Given the description of an element on the screen output the (x, y) to click on. 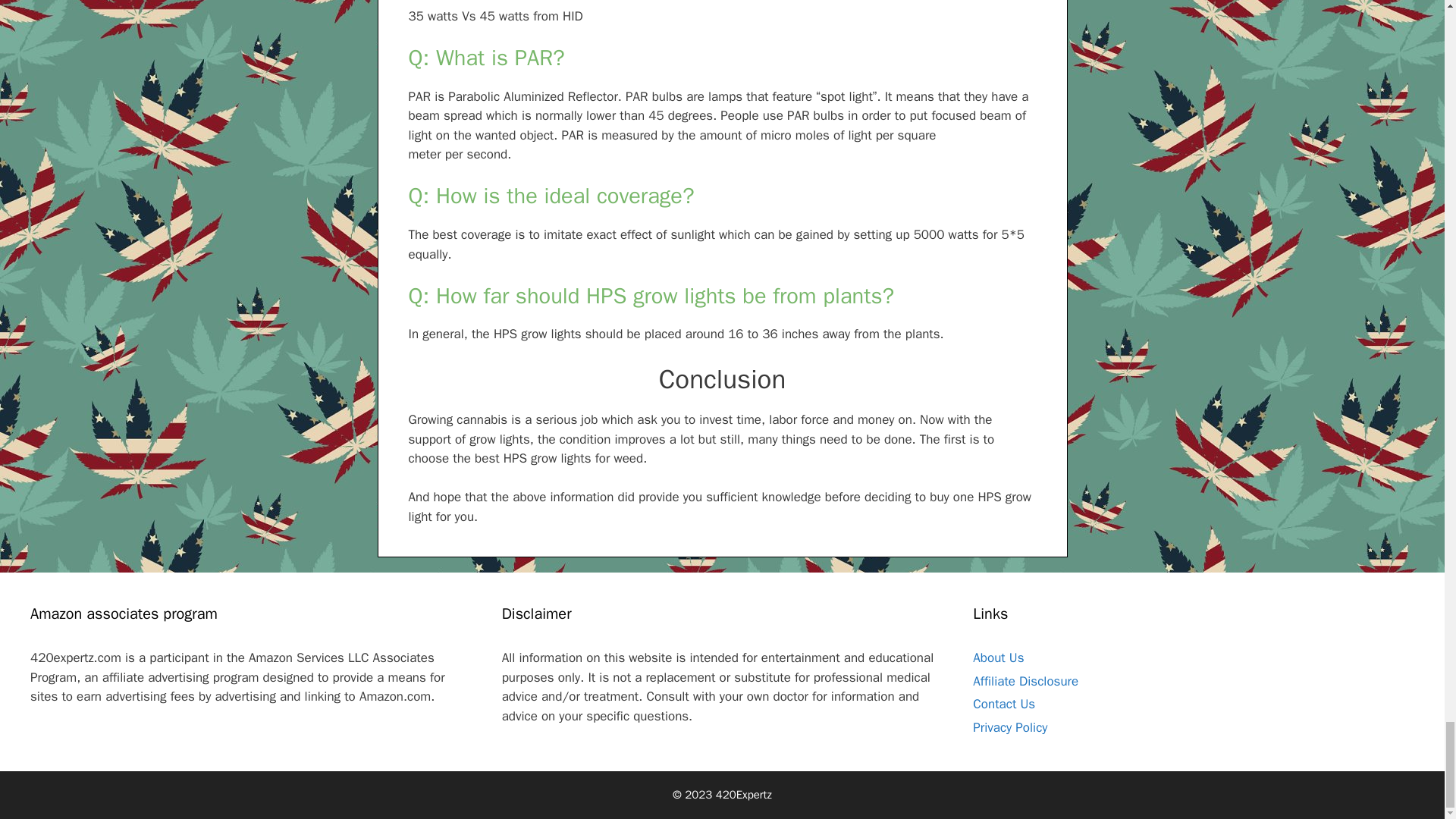
Contact Us (1003, 703)
About Us (997, 657)
Privacy Policy (1009, 727)
Affiliate Disclosure (1025, 681)
